Given the description of an element on the screen output the (x, y) to click on. 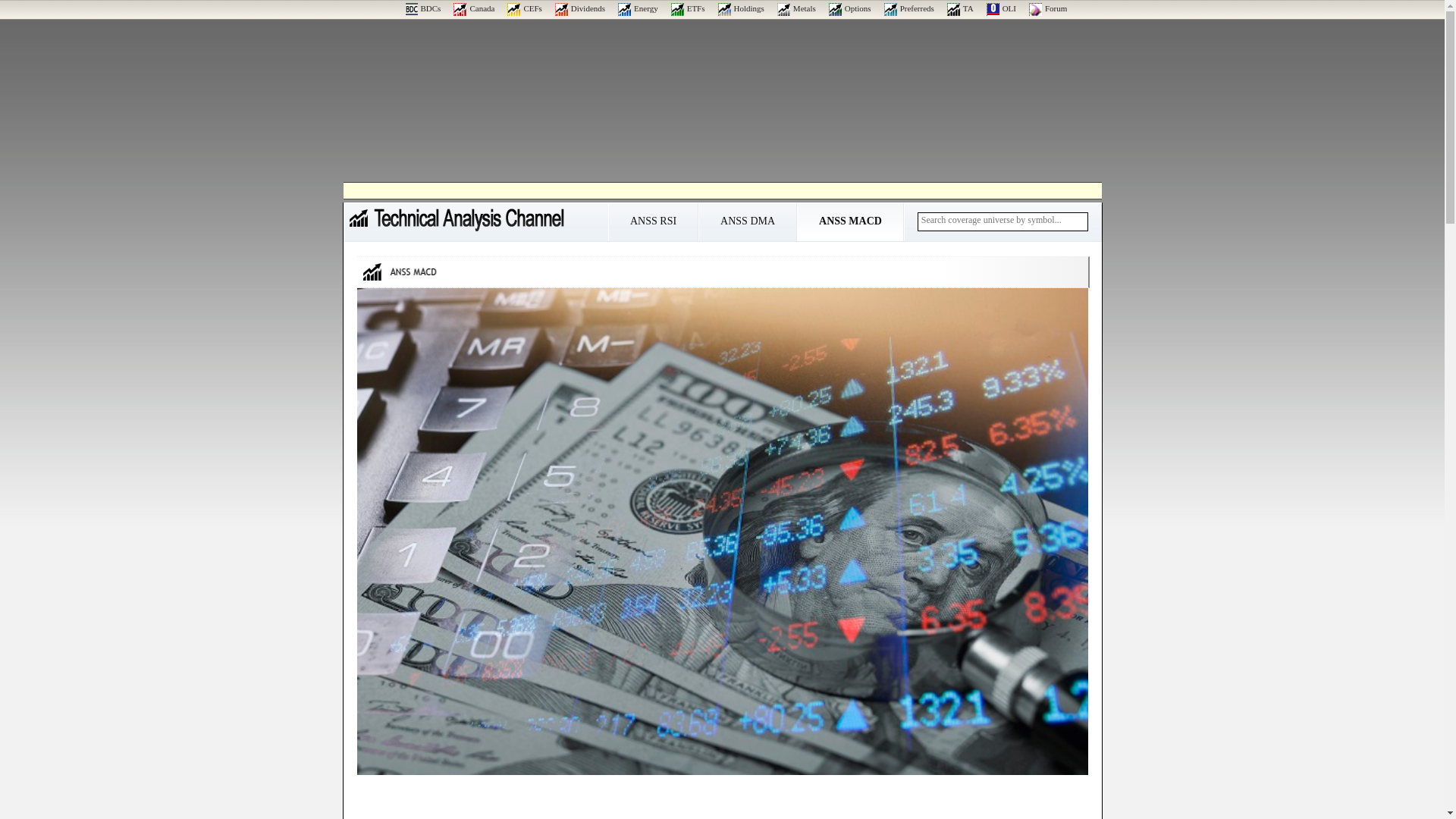
Holdings (740, 8)
Options (849, 8)
Metals Channel (796, 8)
Stock Options Channel (849, 8)
CEFs (523, 8)
Metals (796, 8)
The Online Investor (1001, 8)
CEF Channel (523, 8)
Preferreds (908, 8)
TA (960, 8)
Preferred Stocks (908, 8)
Forum (1048, 8)
Enery Stock Channel (637, 8)
Canada (473, 8)
OLI (1001, 8)
